Given the description of an element on the screen output the (x, y) to click on. 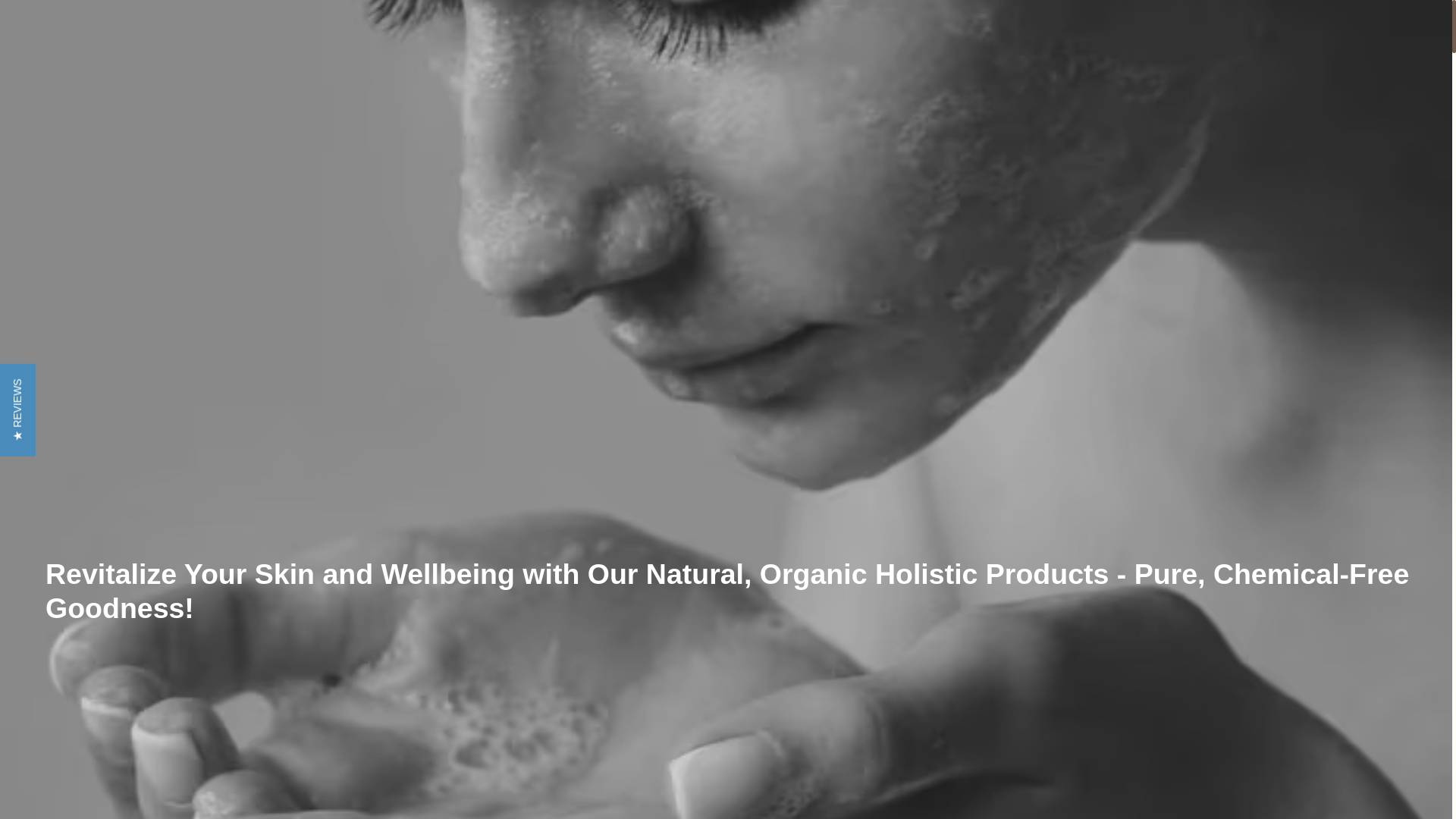
Products (617, 291)
Search (1164, 130)
Skin Problems (519, 291)
Login (1212, 130)
